Given the description of an element on the screen output the (x, y) to click on. 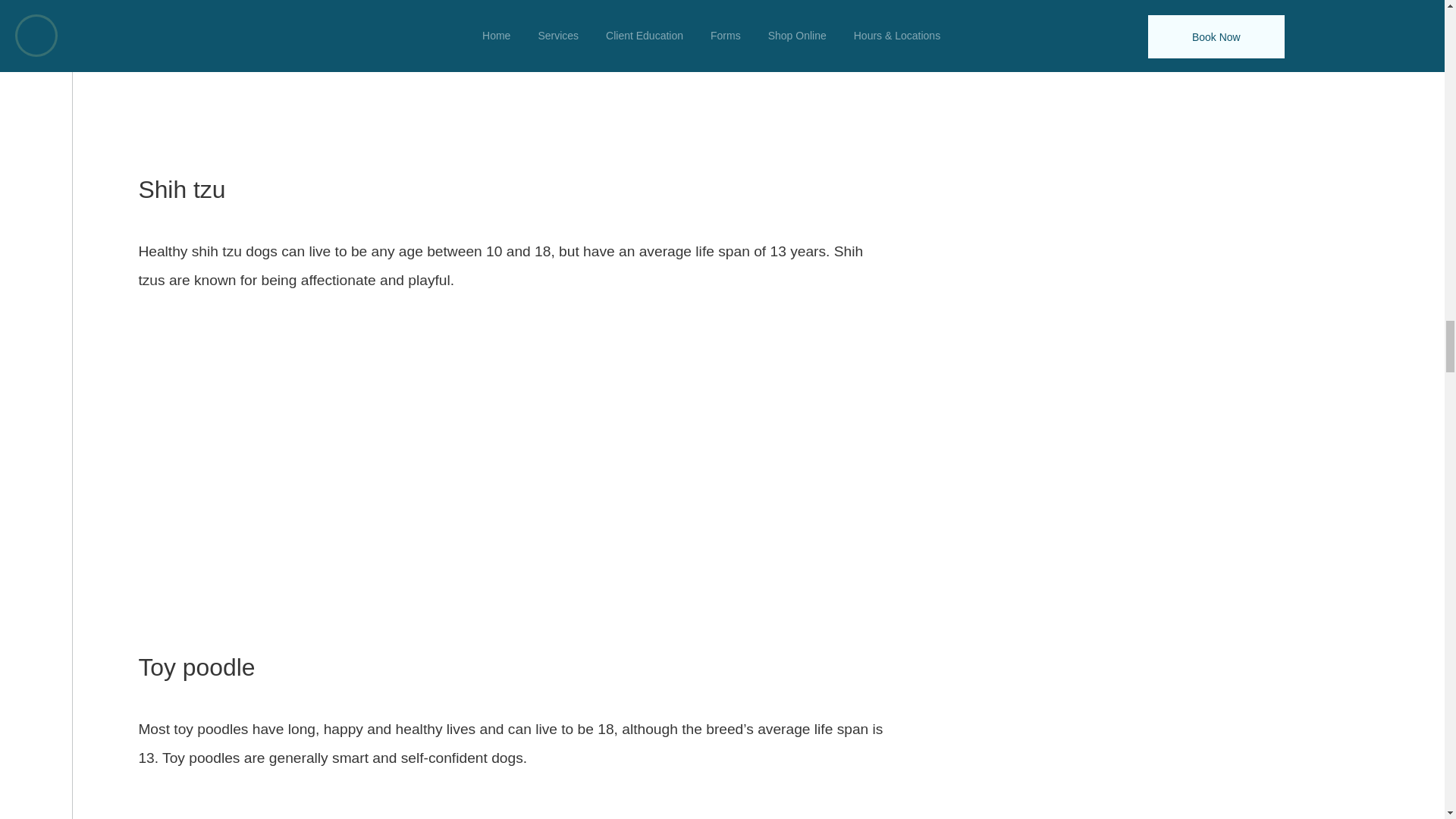
The 25 Dog Breeds With Longest Life Spans 10 (512, 74)
The 25 Dog Breeds With Longest Life Spans 12 (512, 798)
